Given the description of an element on the screen output the (x, y) to click on. 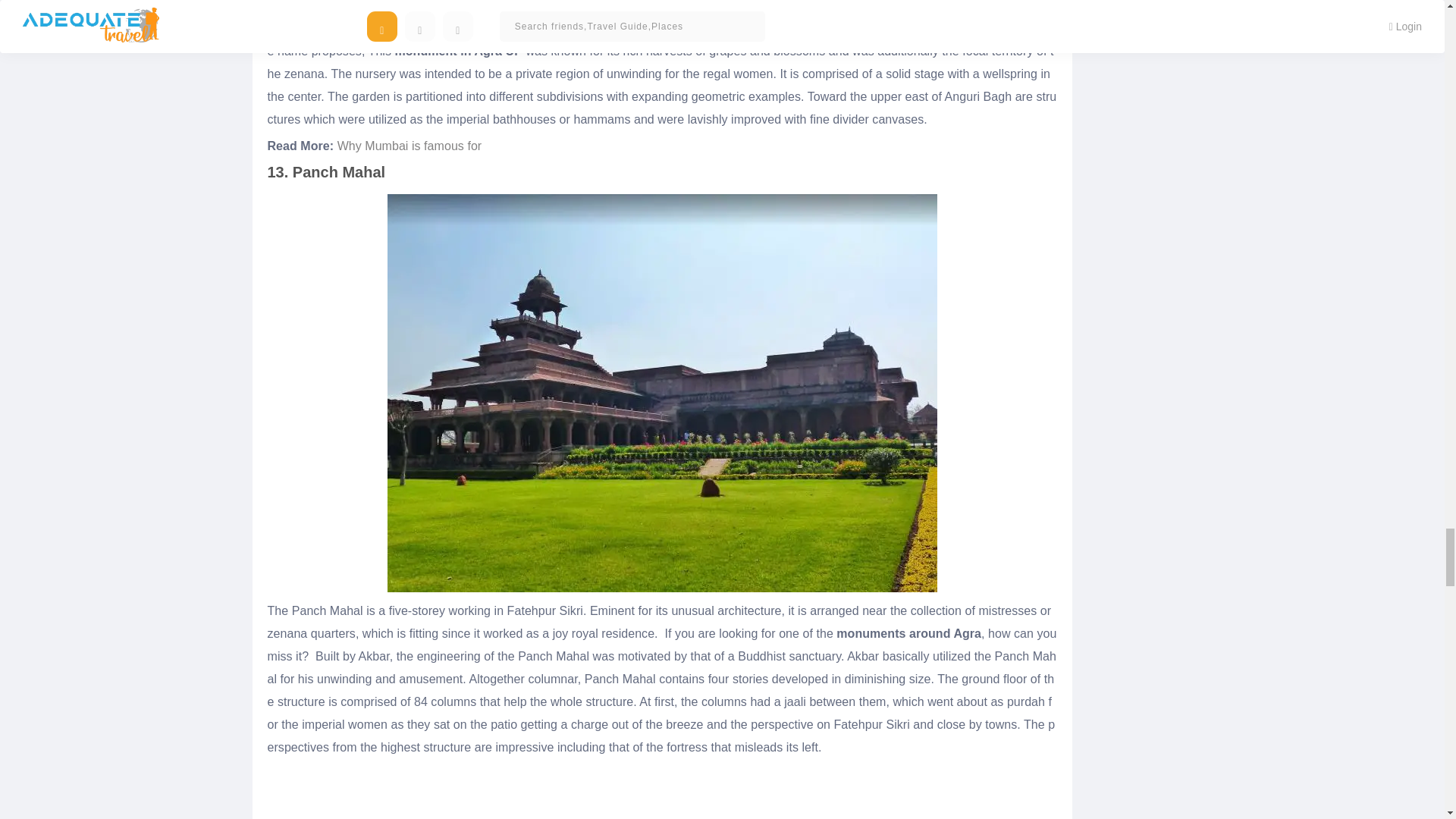
Why Mumbai is famous for (409, 145)
